Given the description of an element on the screen output the (x, y) to click on. 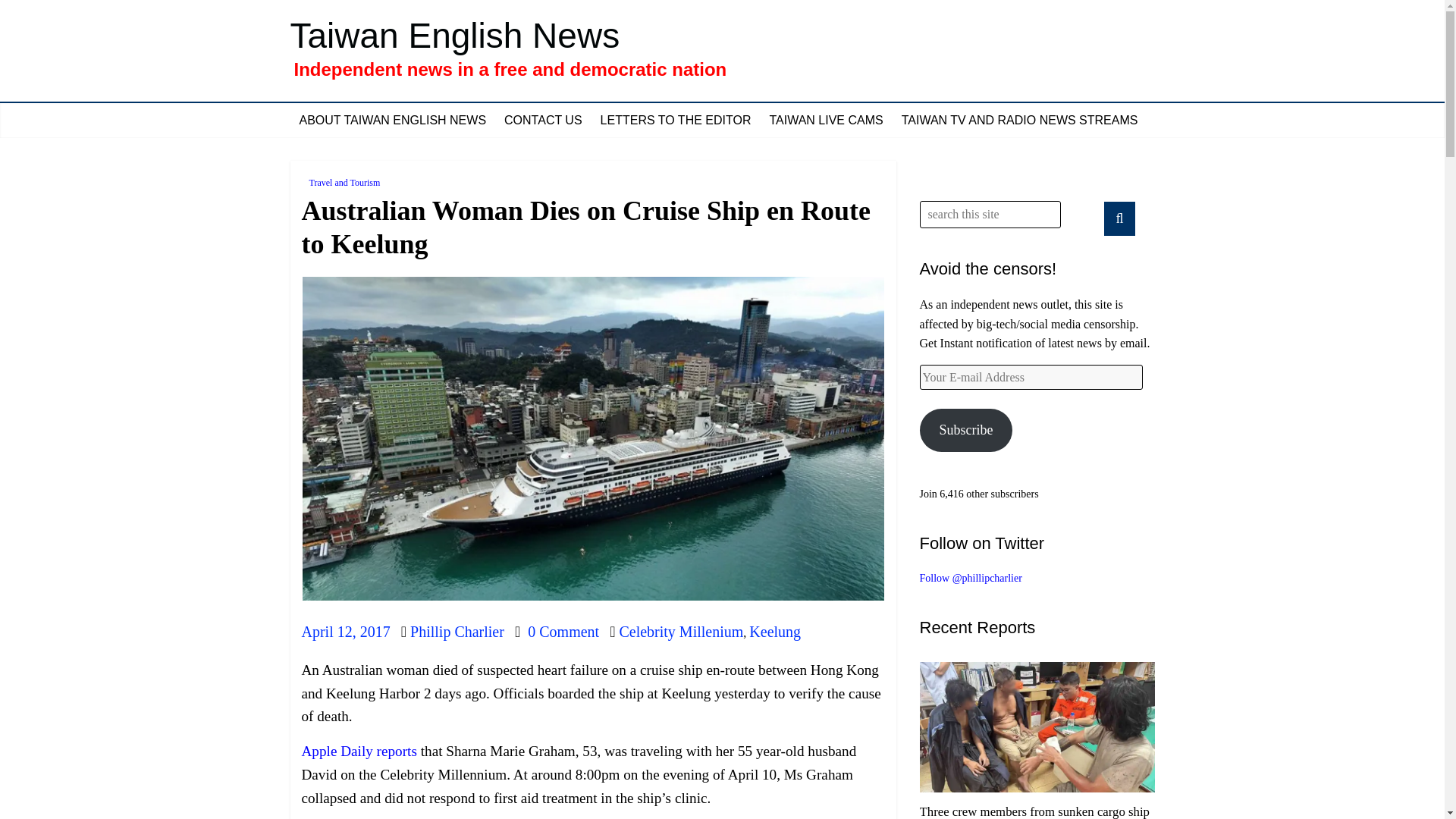
LETTERS TO THE EDITOR (675, 120)
CONTACT US (543, 120)
Travel and Tourism (344, 182)
ABOUT TAIWAN ENGLISH NEWS (392, 120)
TAIWAN TV AND RADIO NEWS STREAMS (1019, 120)
2:43 pm (345, 631)
Keelung (774, 631)
Phillip Charlier (456, 631)
Taiwan English News (454, 35)
0 Comment (556, 631)
April 12, 2017 (345, 631)
Taiwan English News (454, 35)
Celebrity Millenium (680, 631)
Apple Daily reports (358, 750)
TAIWAN LIVE CAMS (825, 120)
